Given the description of an element on the screen output the (x, y) to click on. 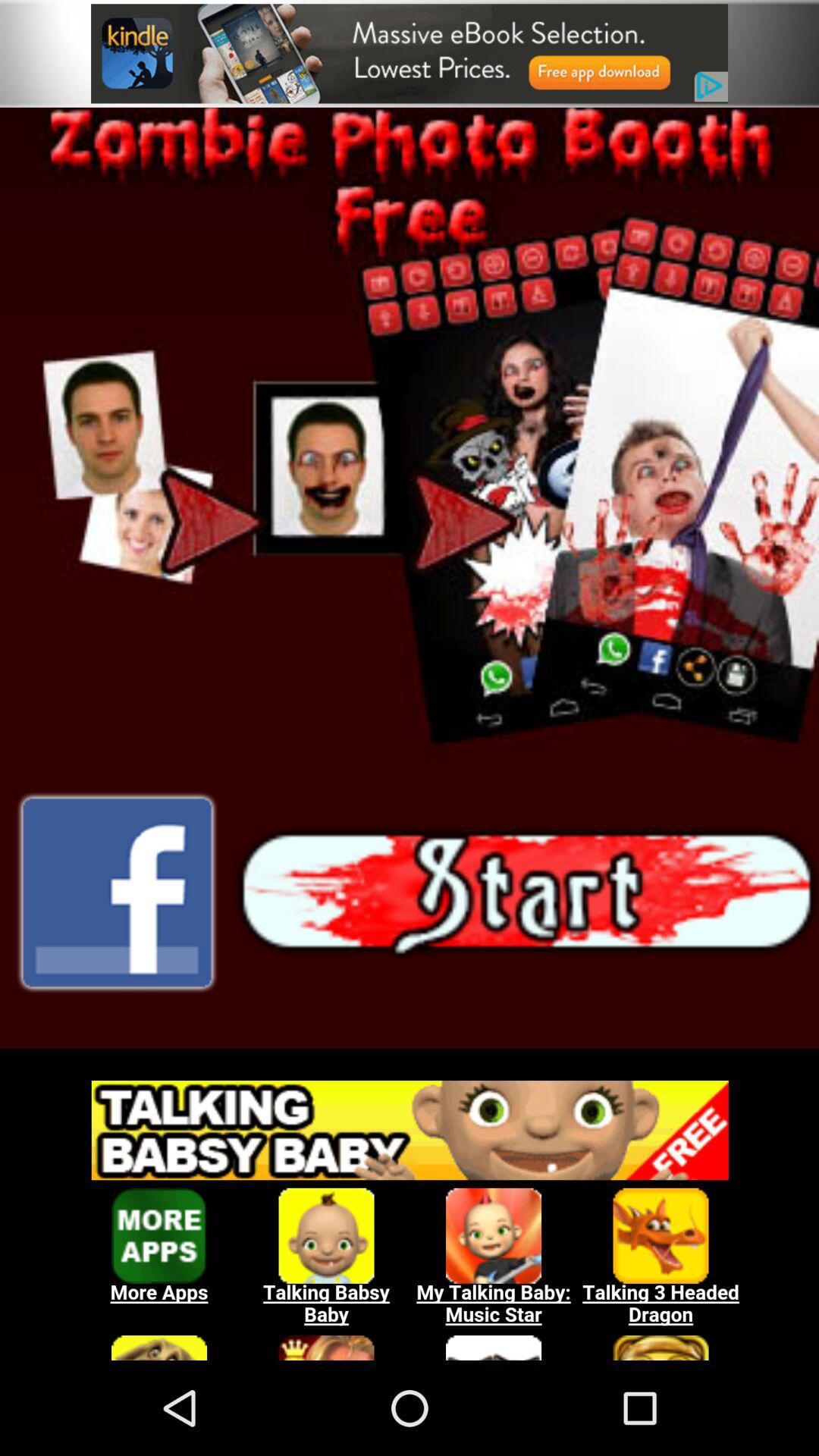
view kindle app download page (409, 53)
